Given the description of an element on the screen output the (x, y) to click on. 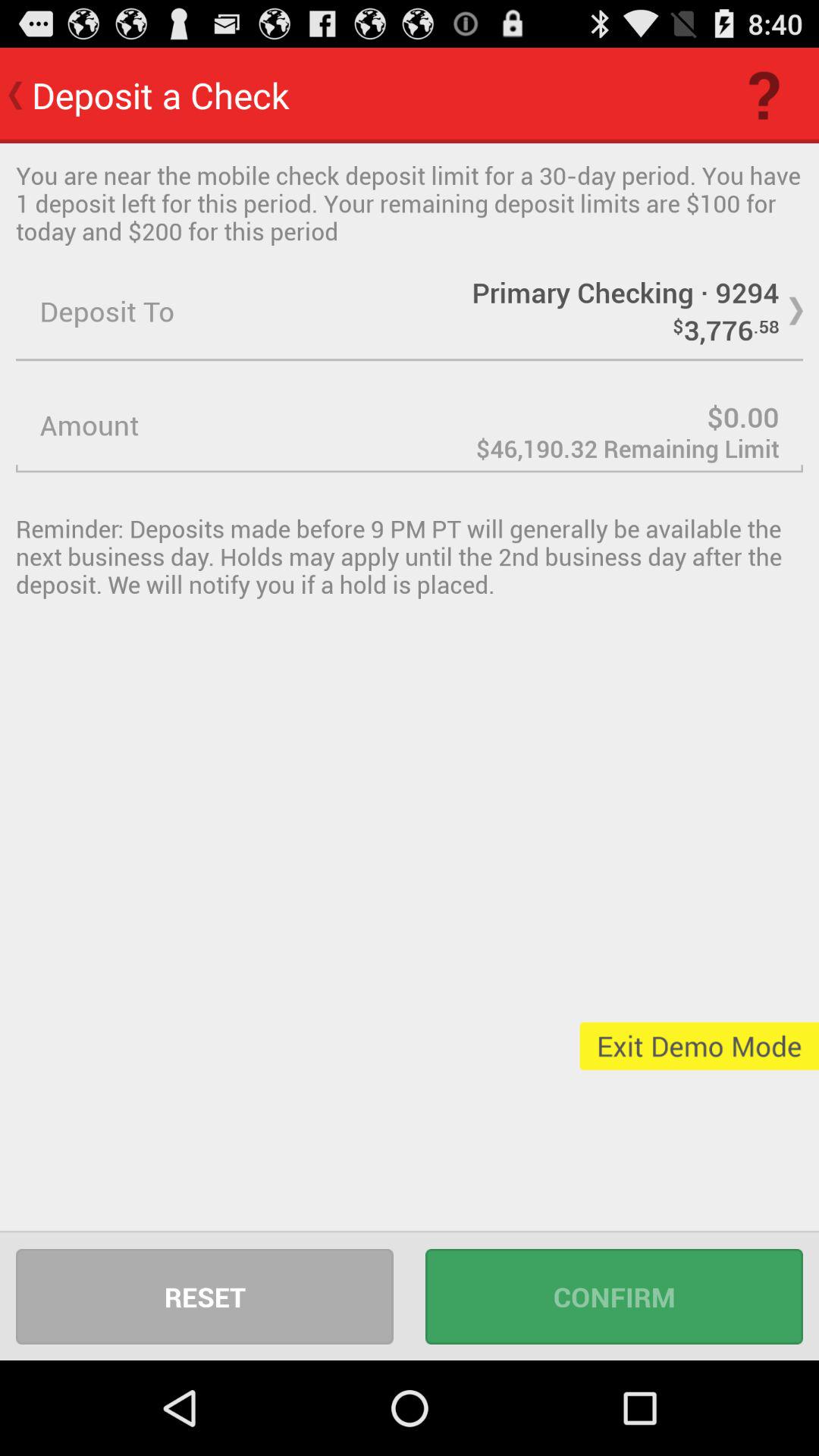
close the page (409, 424)
